Given the description of an element on the screen output the (x, y) to click on. 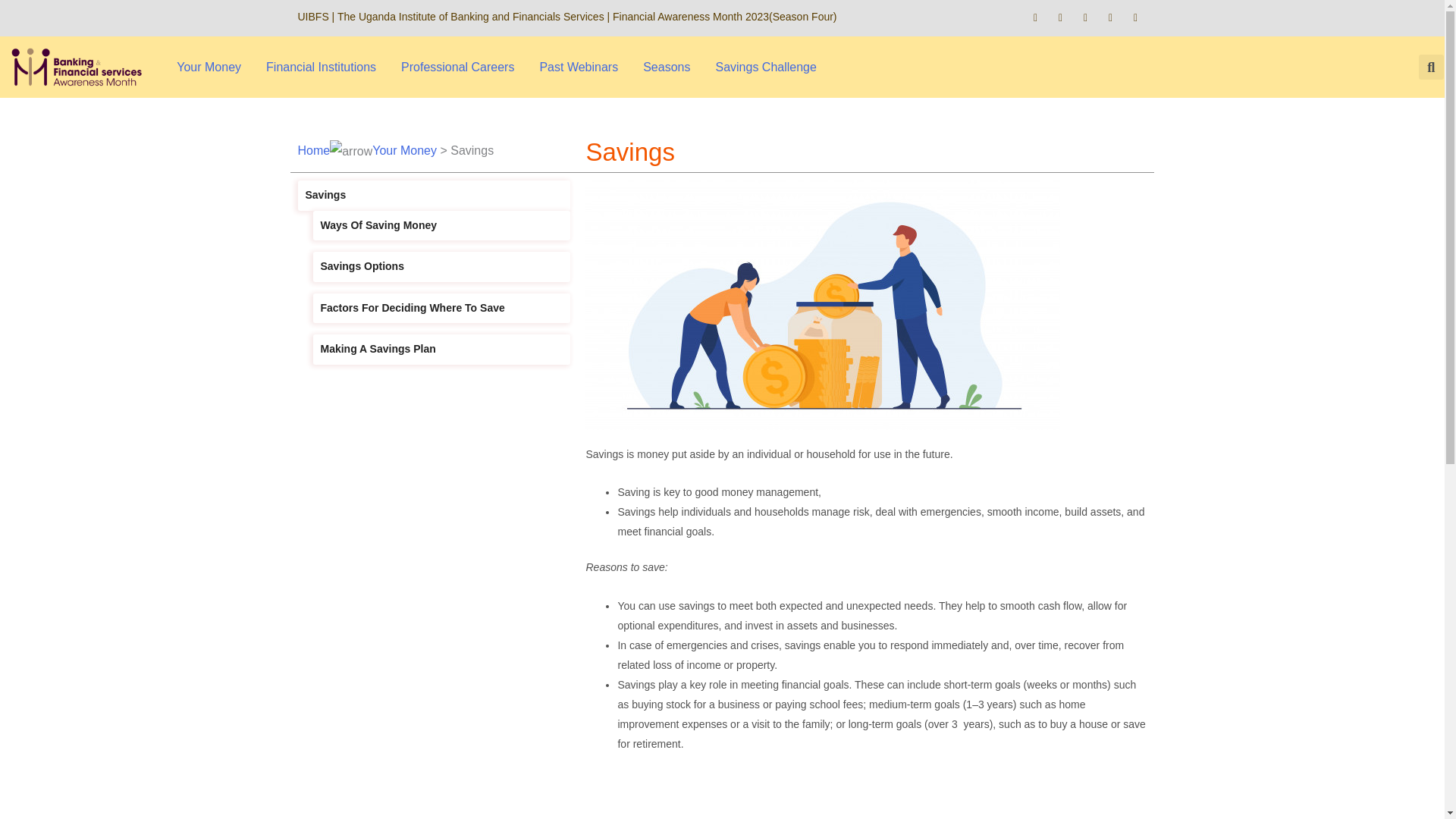
Past Webinars (578, 67)
Your Money (208, 67)
Savings Challenge (765, 67)
Seasons (665, 67)
seasons one (665, 67)
Professional Careers (456, 67)
Financial Institutions (320, 67)
